Given the description of an element on the screen output the (x, y) to click on. 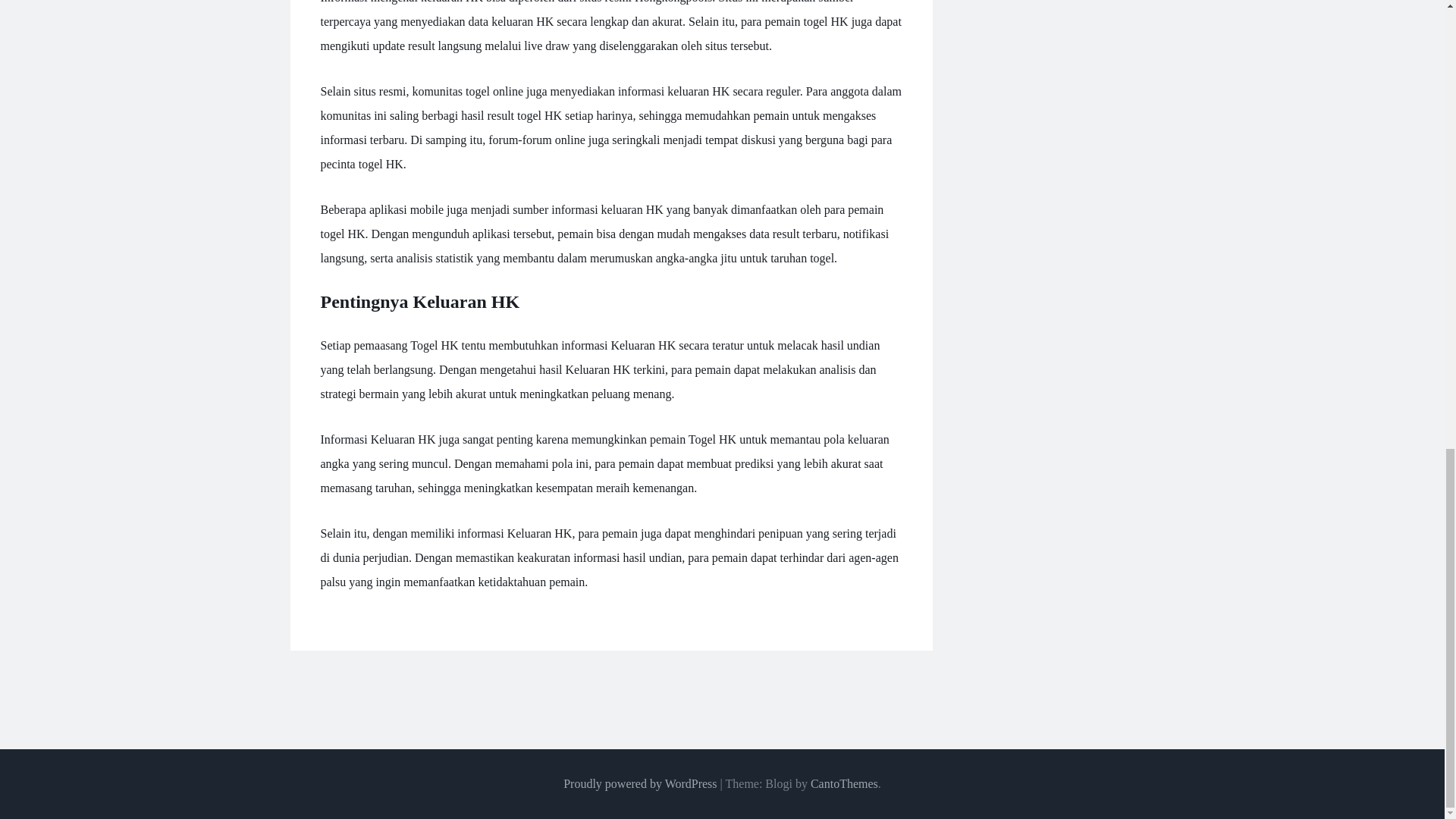
CantoThemes (843, 783)
Proudly powered by WordPress (639, 783)
